Given the description of an element on the screen output the (x, y) to click on. 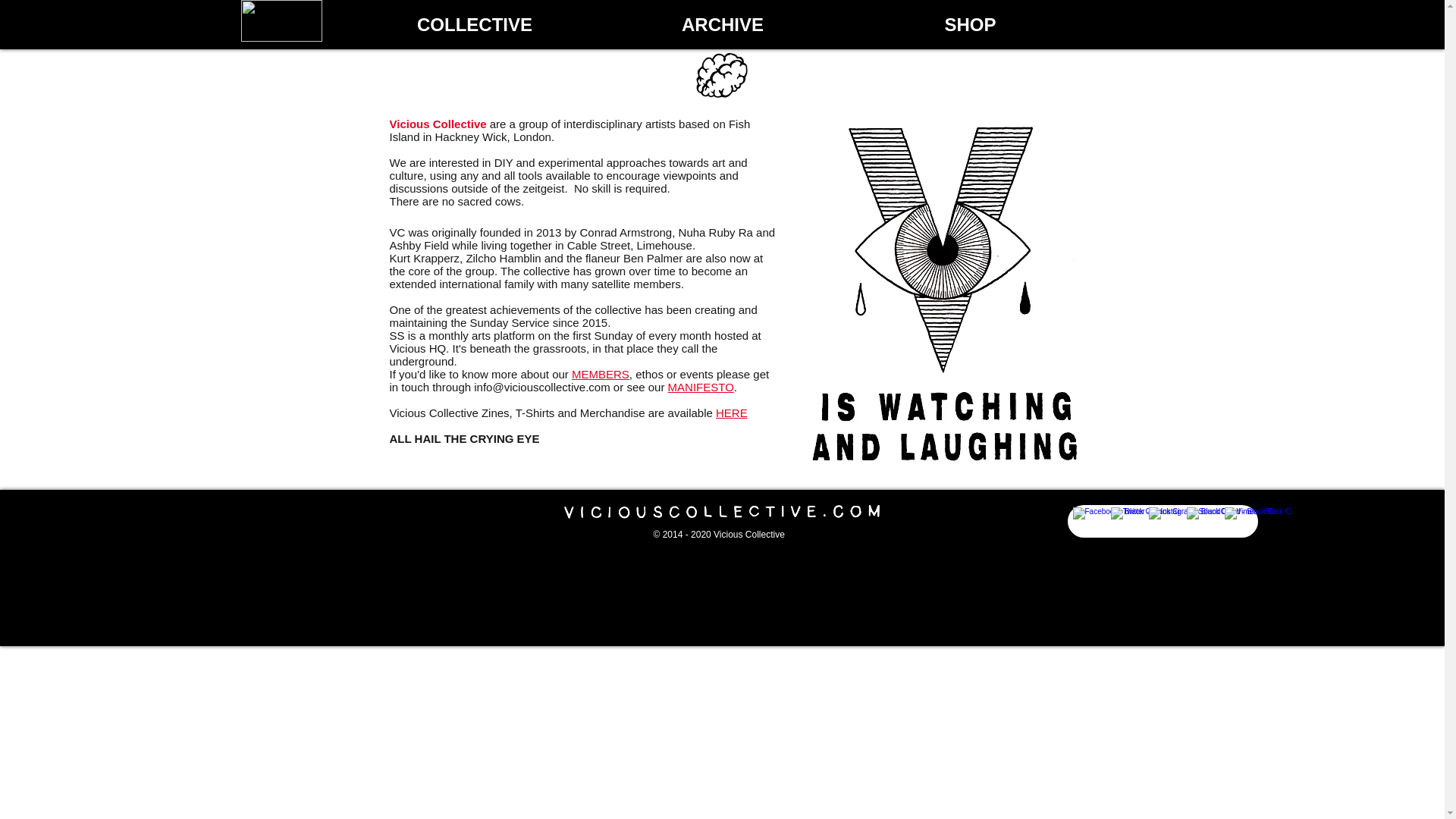
SHOP (969, 24)
ARCHIVE (722, 24)
MA (676, 386)
HERE (732, 412)
